Given the description of an element on the screen output the (x, y) to click on. 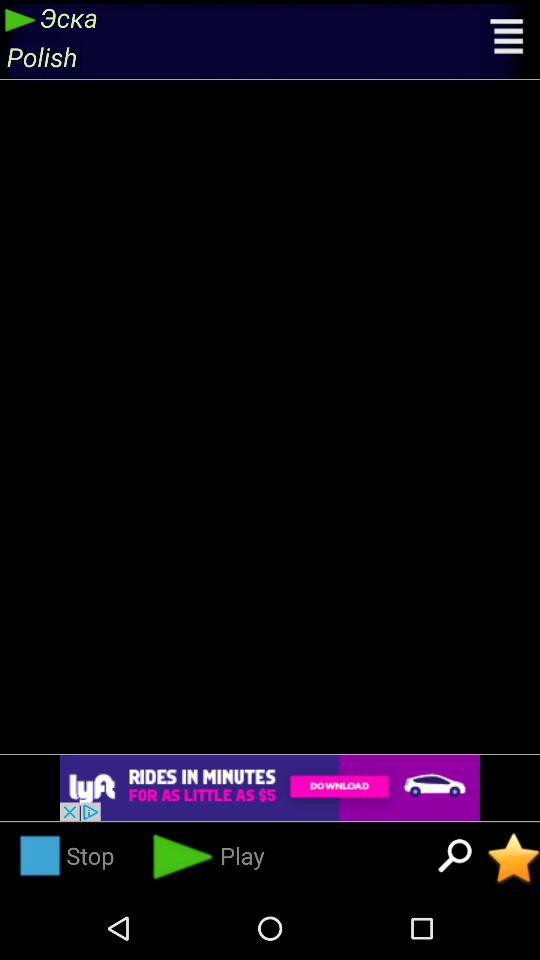
open advertisement (270, 787)
